Given the description of an element on the screen output the (x, y) to click on. 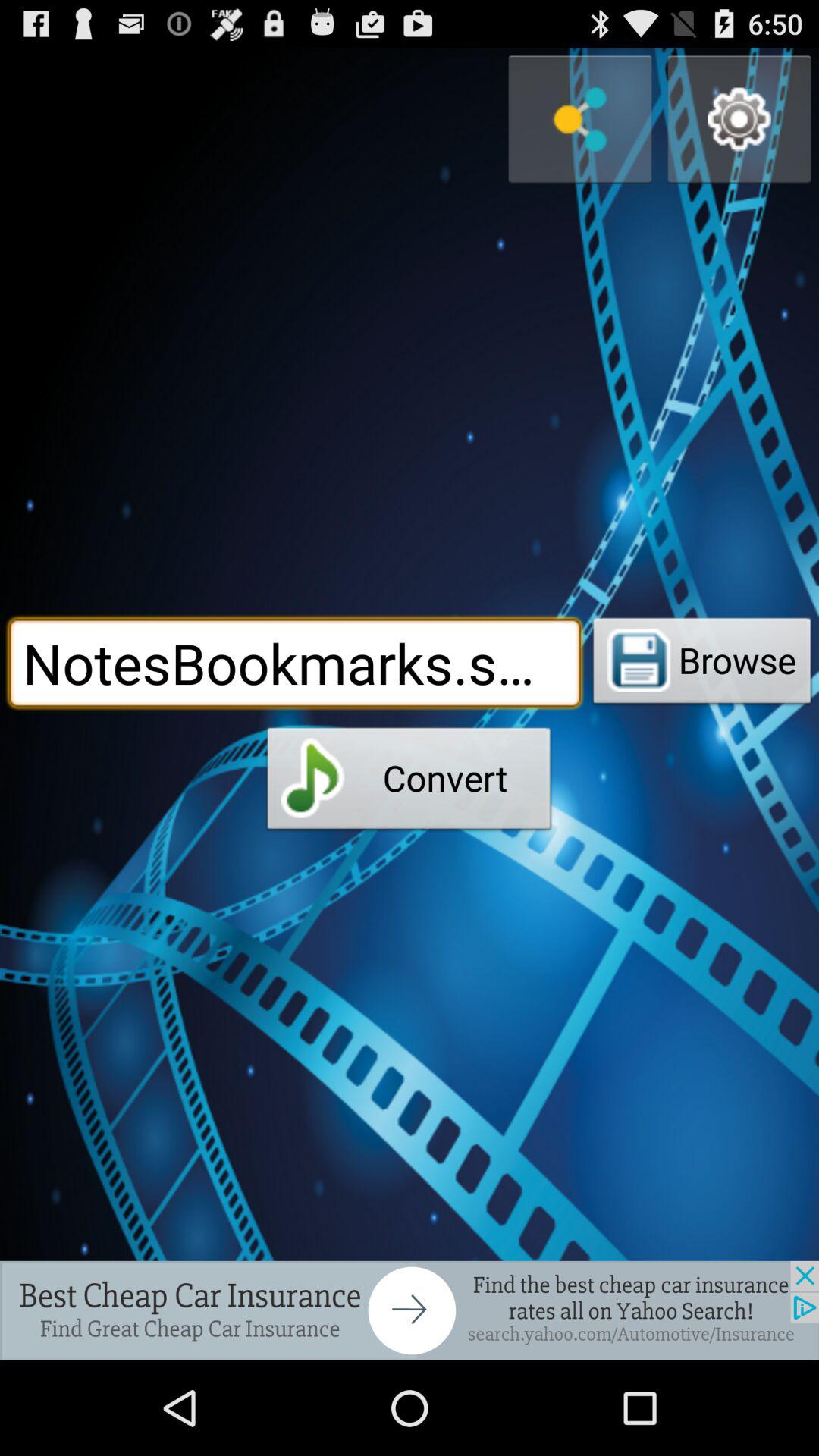
advertisement (409, 1310)
